Given the description of an element on the screen output the (x, y) to click on. 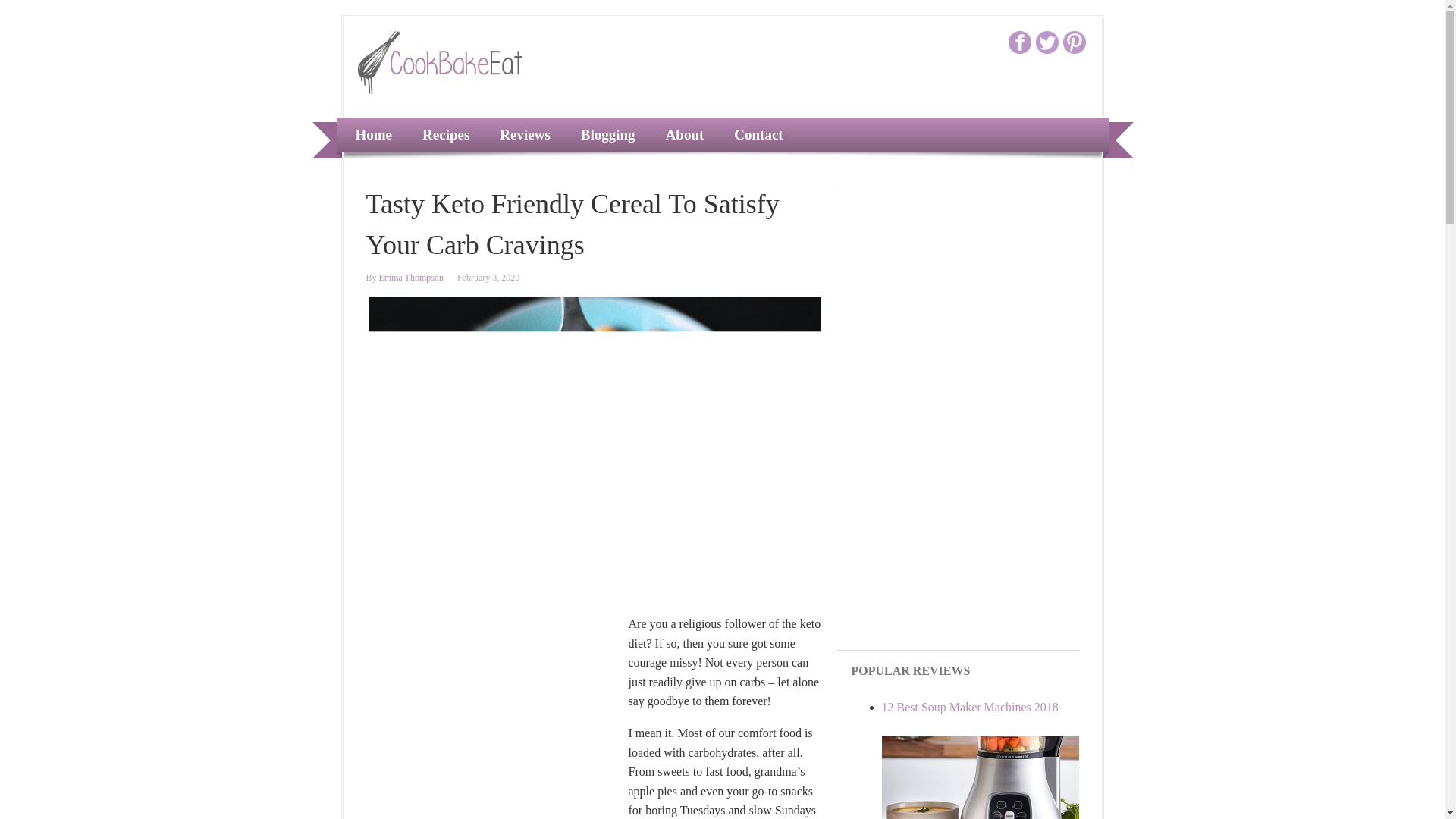
Reviews (520, 134)
Home (370, 134)
Best Soup Maker Machines 2017 (969, 707)
Recipes (441, 134)
About (681, 134)
Contact (753, 134)
Blogging (604, 134)
